Given the description of an element on the screen output the (x, y) to click on. 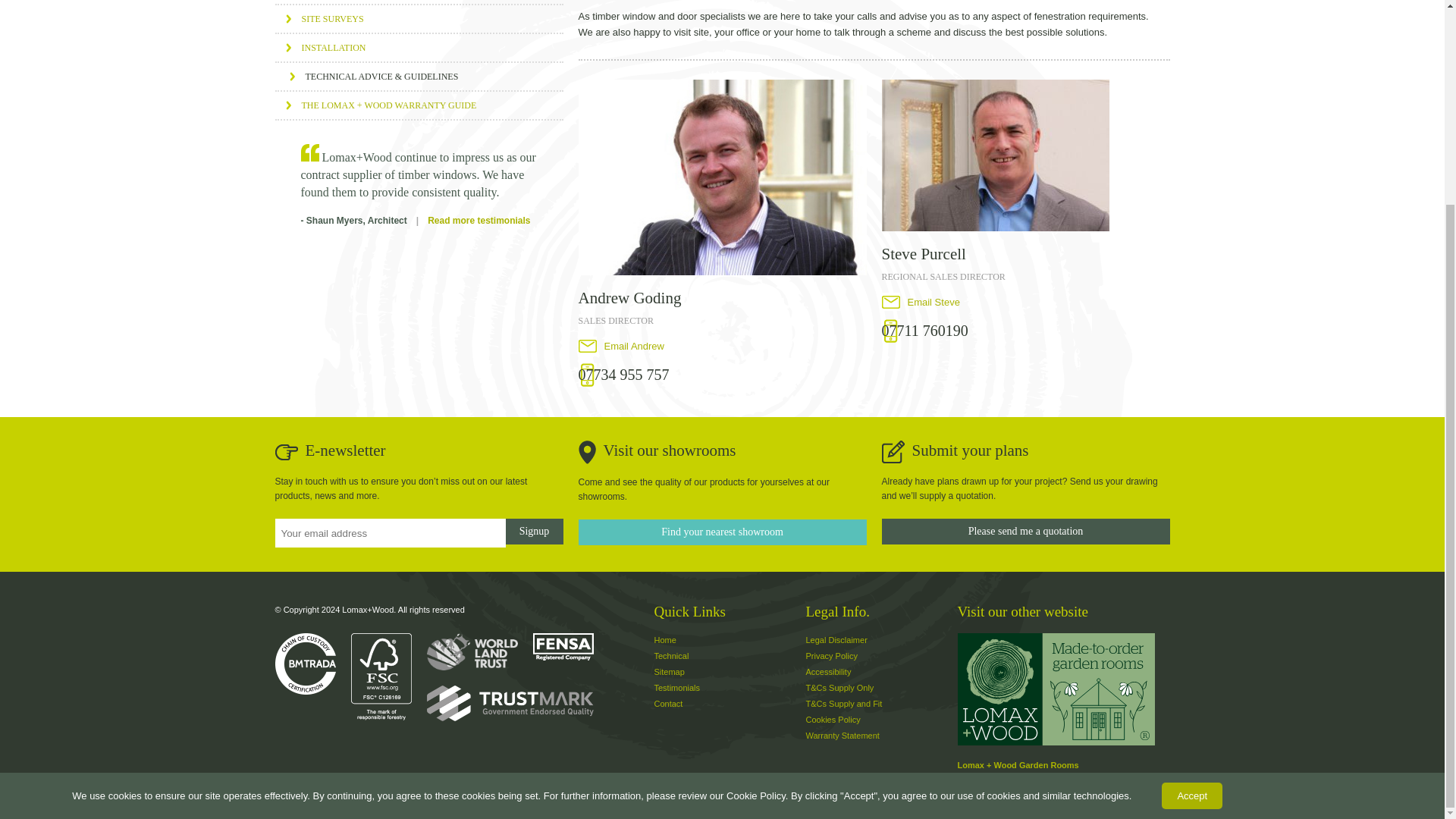
Signup (533, 531)
Accept (1192, 532)
Cookie Policy (756, 532)
